Given the description of an element on the screen output the (x, y) to click on. 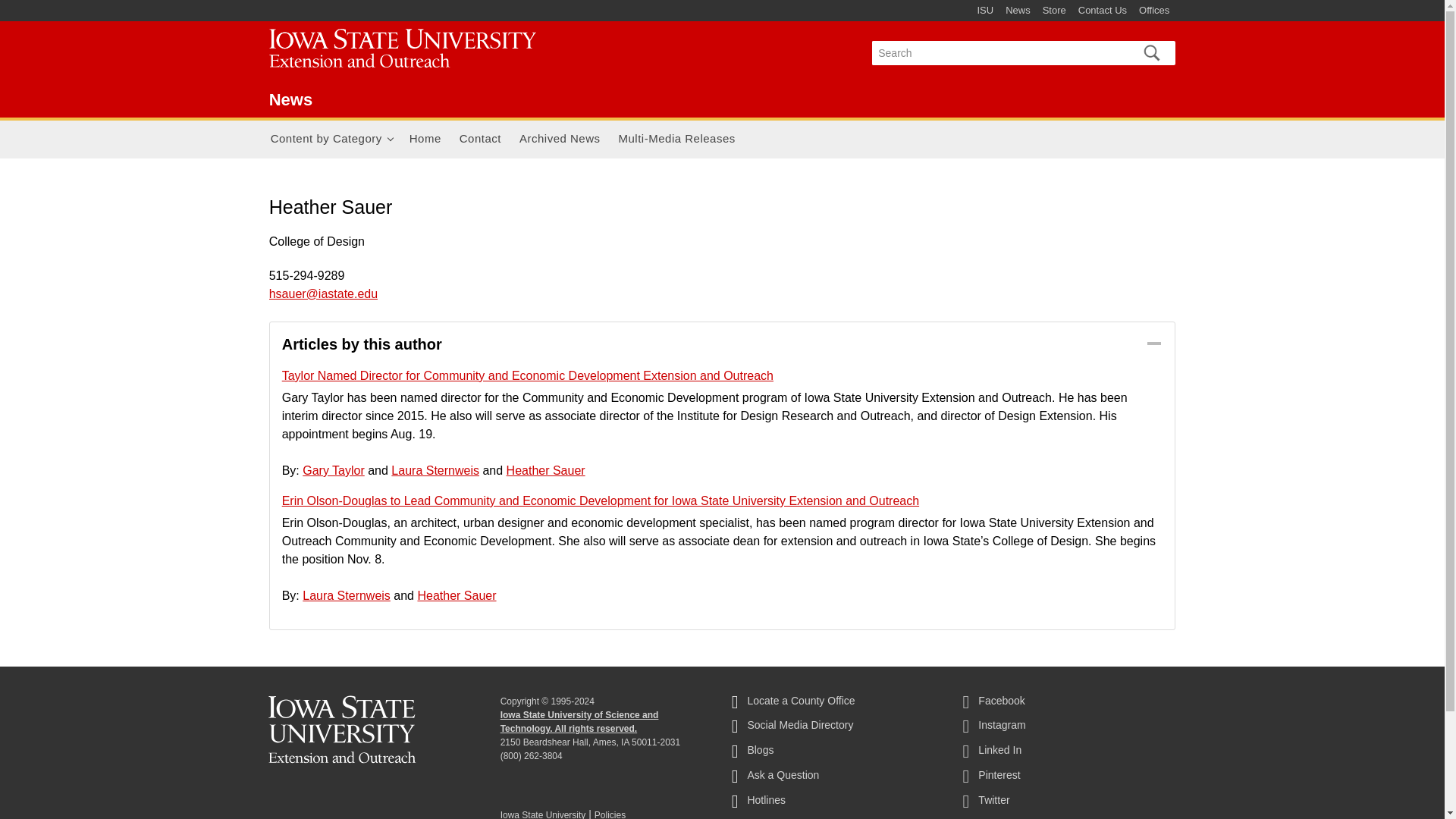
Skip to main content (685, 1)
Home (424, 139)
Laura Sternweis (346, 594)
Multi-Media Releases (677, 139)
News (411, 50)
News (291, 99)
Heather Sauer (456, 594)
Offices (1153, 10)
Contact (480, 139)
Heather Sauer (545, 470)
Archived News (560, 139)
